Given the description of an element on the screen output the (x, y) to click on. 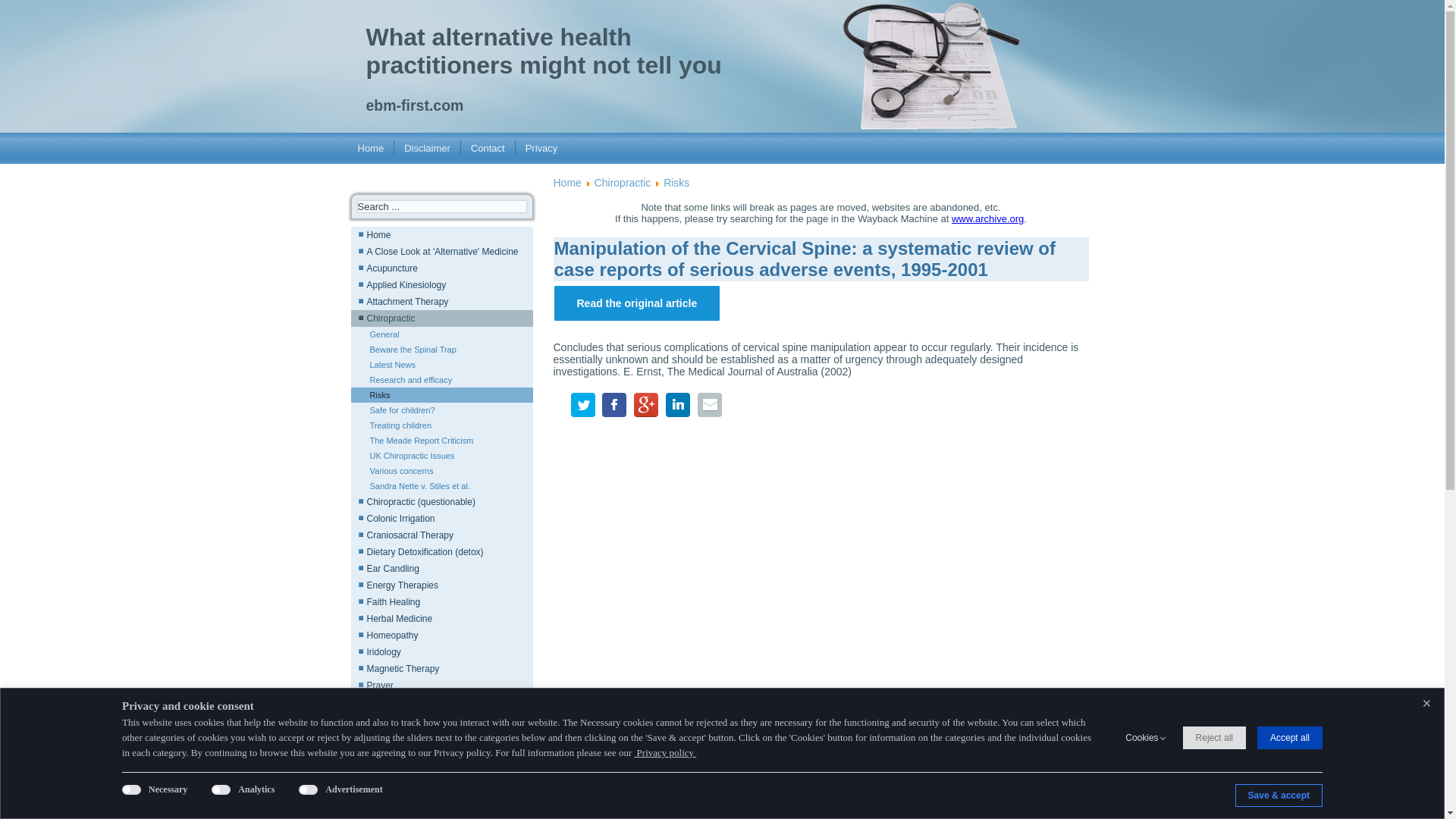
Colonic Irrigation (441, 518)
A Close Look at 'Alternative' Medicine (441, 251)
Applied Kinesiology (441, 284)
Risks (441, 394)
Faith Healing (441, 601)
Latest News (441, 364)
Privacy (541, 147)
Safe for children? (441, 409)
Home (441, 234)
Homeopathy (441, 635)
The Meade Report Criticism (441, 440)
Home (370, 147)
Treating children (441, 425)
Disclaimer (427, 147)
Craniosacral Therapy (441, 535)
